Given the description of an element on the screen output the (x, y) to click on. 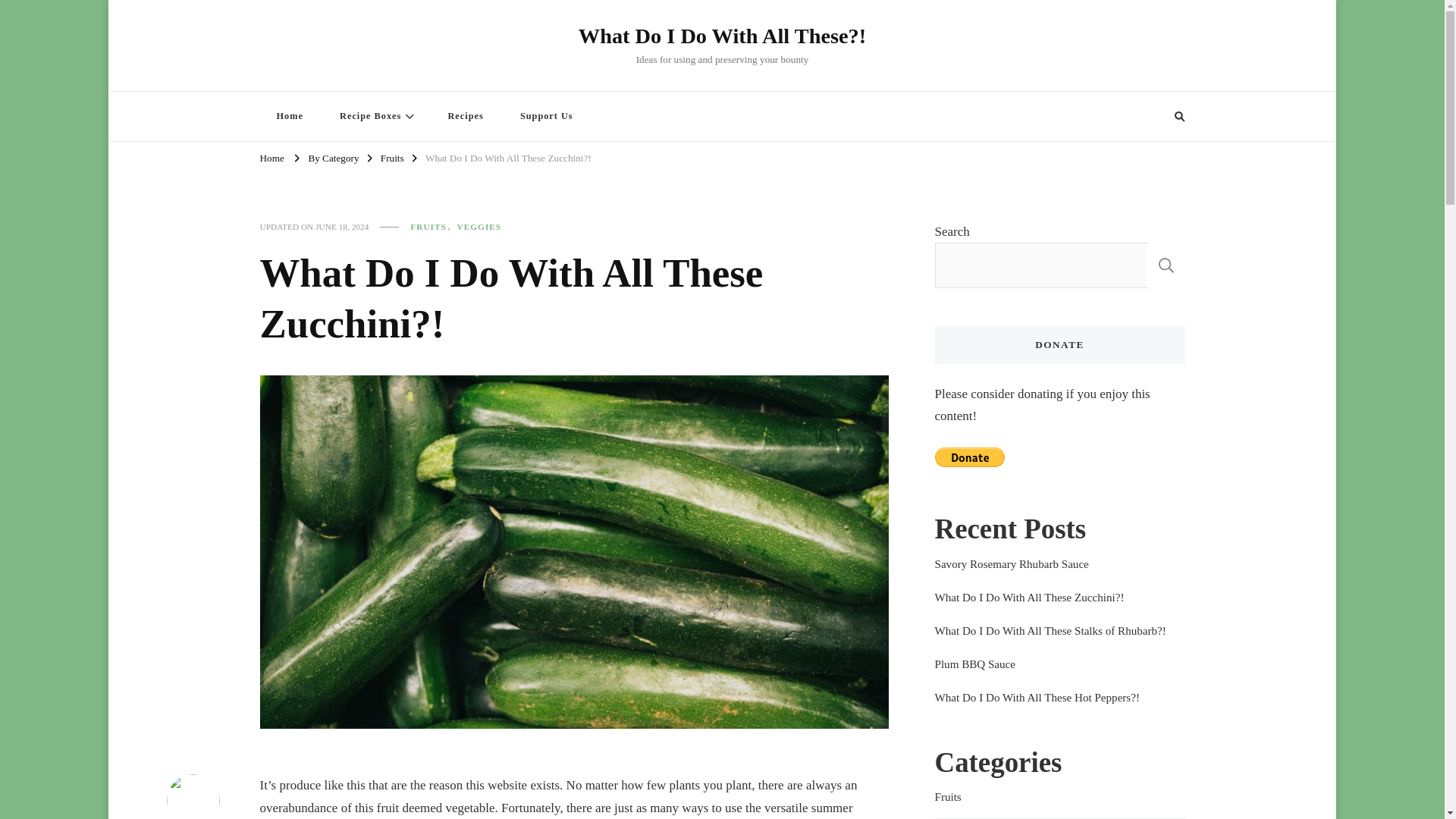
Support Us (546, 115)
What Do I Do With All These?! (722, 35)
Fruits (392, 159)
By Category (332, 159)
Search (1151, 117)
Home (271, 159)
JUNE 18, 2024 (341, 226)
Recipes (464, 115)
Home (288, 115)
FRUITS (432, 226)
Recipe Boxes (375, 115)
VEGGIES (479, 226)
What Do I Do With All These Zucchini?! (508, 159)
